Given the description of an element on the screen output the (x, y) to click on. 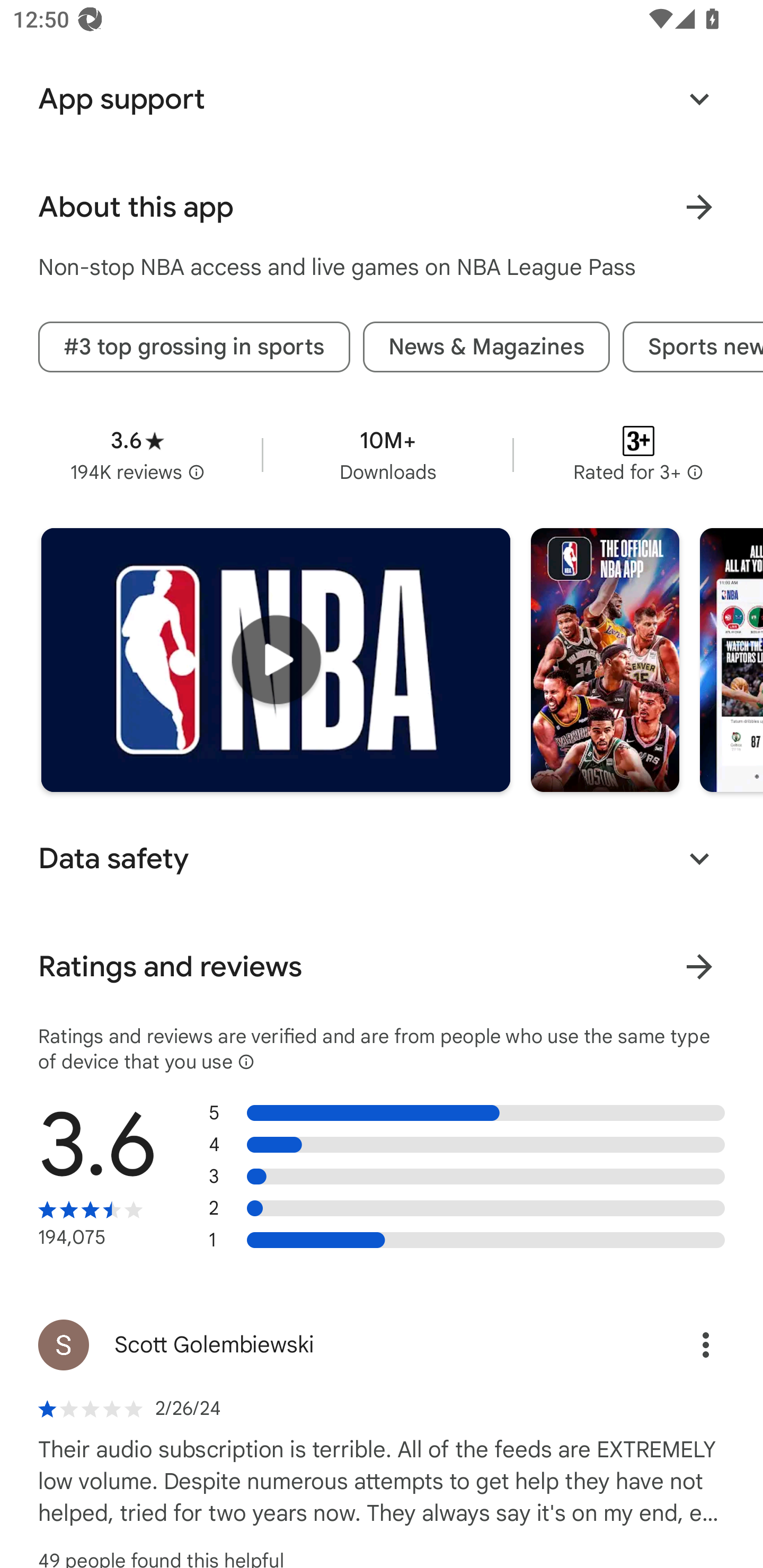
App support Expand (381, 99)
Expand (699, 99)
About this app Learn more About this app (381, 206)
Learn more About this app (699, 206)
#3 top grossing in sports tag (194, 346)
News & Magazines tag (486, 346)
Average rating 3.6 stars in 194 thousand reviews (137, 455)
Content rating Rated for 3+ (638, 455)
Play trailer for "NBA: Live Games & Scores" (275, 659)
Screenshot "1" of "7" (605, 659)
Data safety Expand (381, 858)
Expand (699, 858)
Ratings and reviews View all ratings and reviews (381, 966)
View all ratings and reviews (699, 966)
Options (686, 1344)
